Given the description of an element on the screen output the (x, y) to click on. 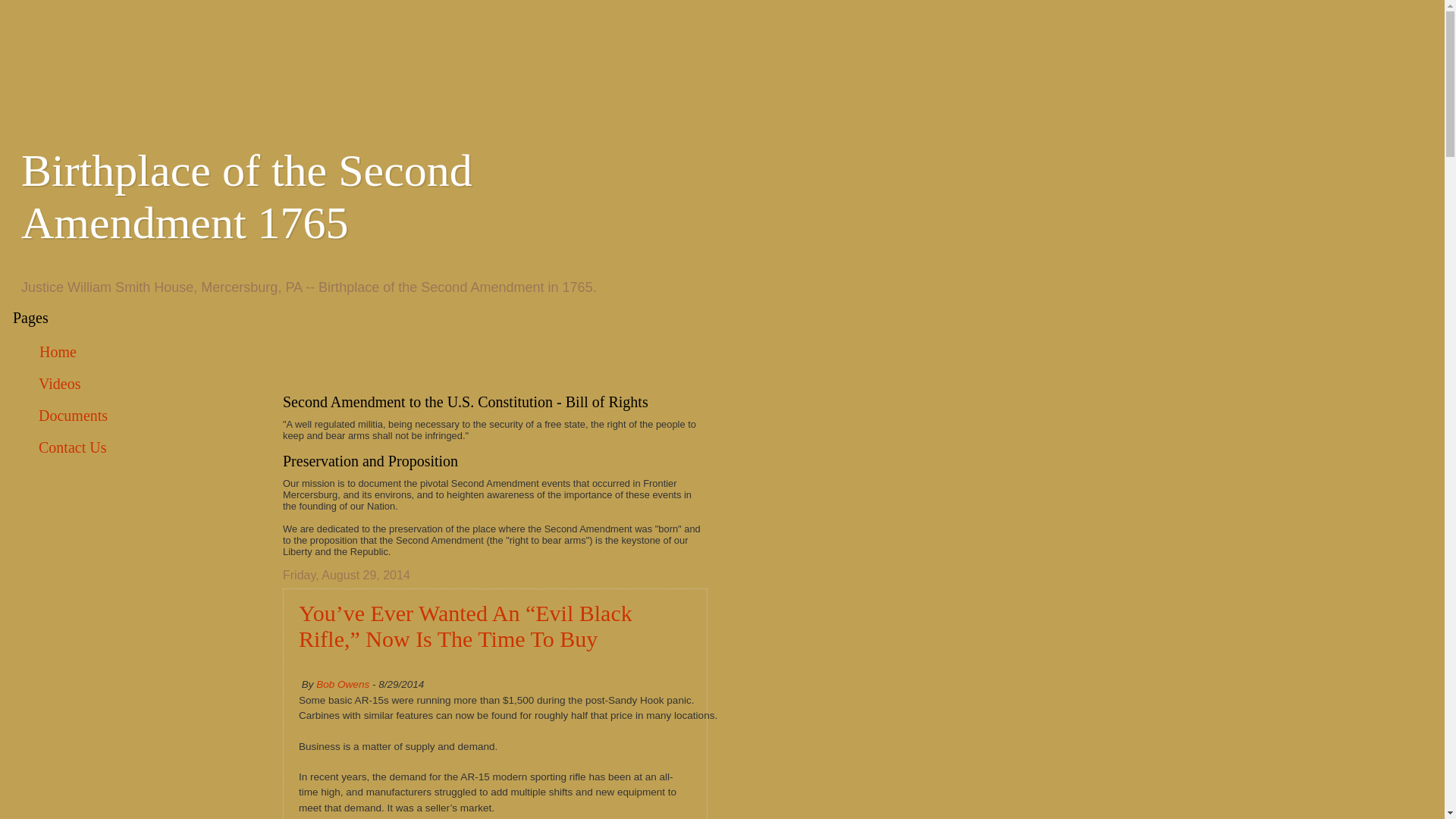
Contact Us Element type: text (72, 447)
Documents Element type: text (73, 415)
Videos Element type: text (59, 383)
Home Element type: text (57, 351)
Bob Owens Element type: text (342, 684)
Birthplace of the Second Amendment 1765 Element type: text (246, 196)
